Given the description of an element on the screen output the (x, y) to click on. 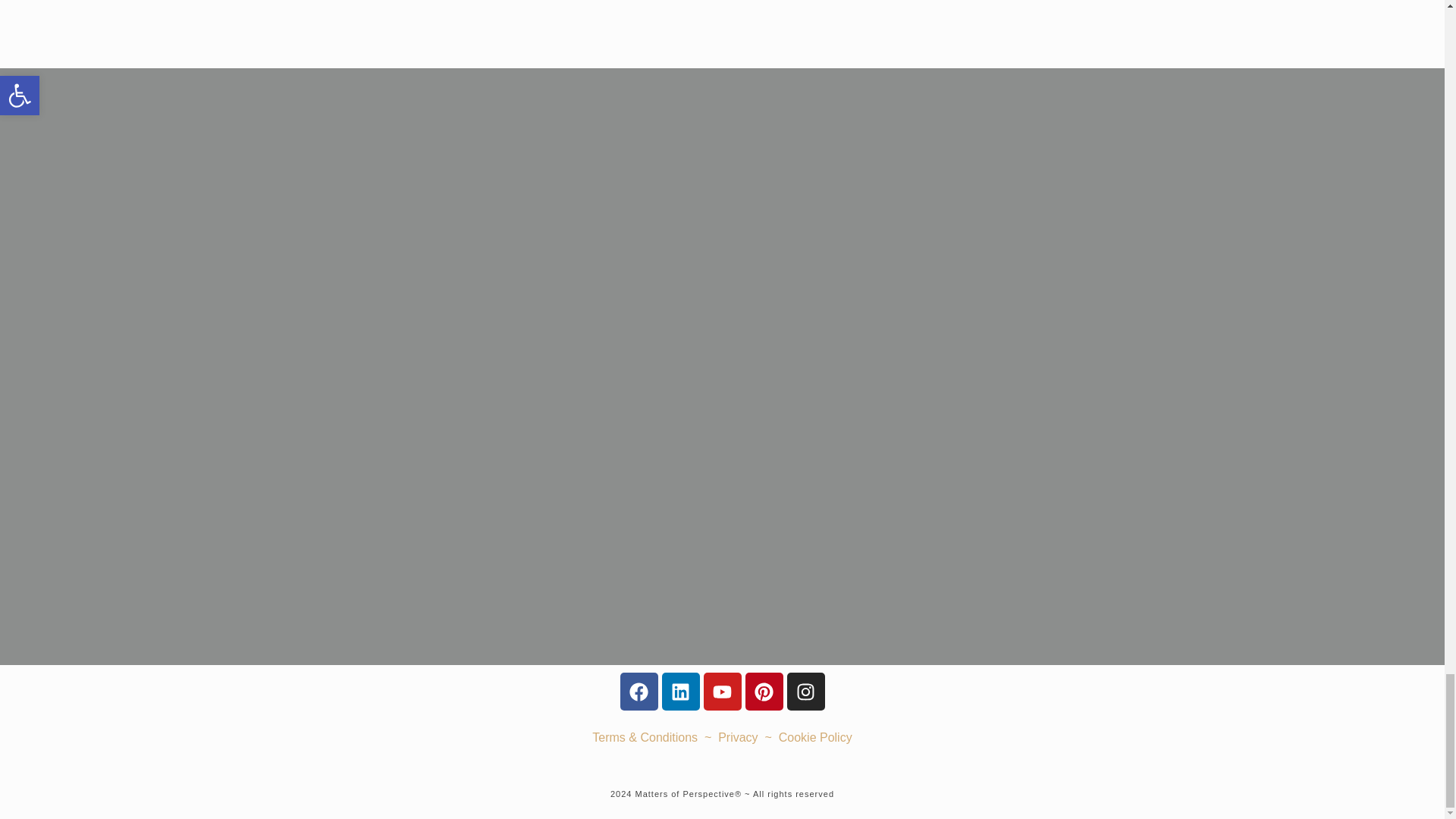
Cookie Policy (814, 737)
